Given the description of an element on the screen output the (x, y) to click on. 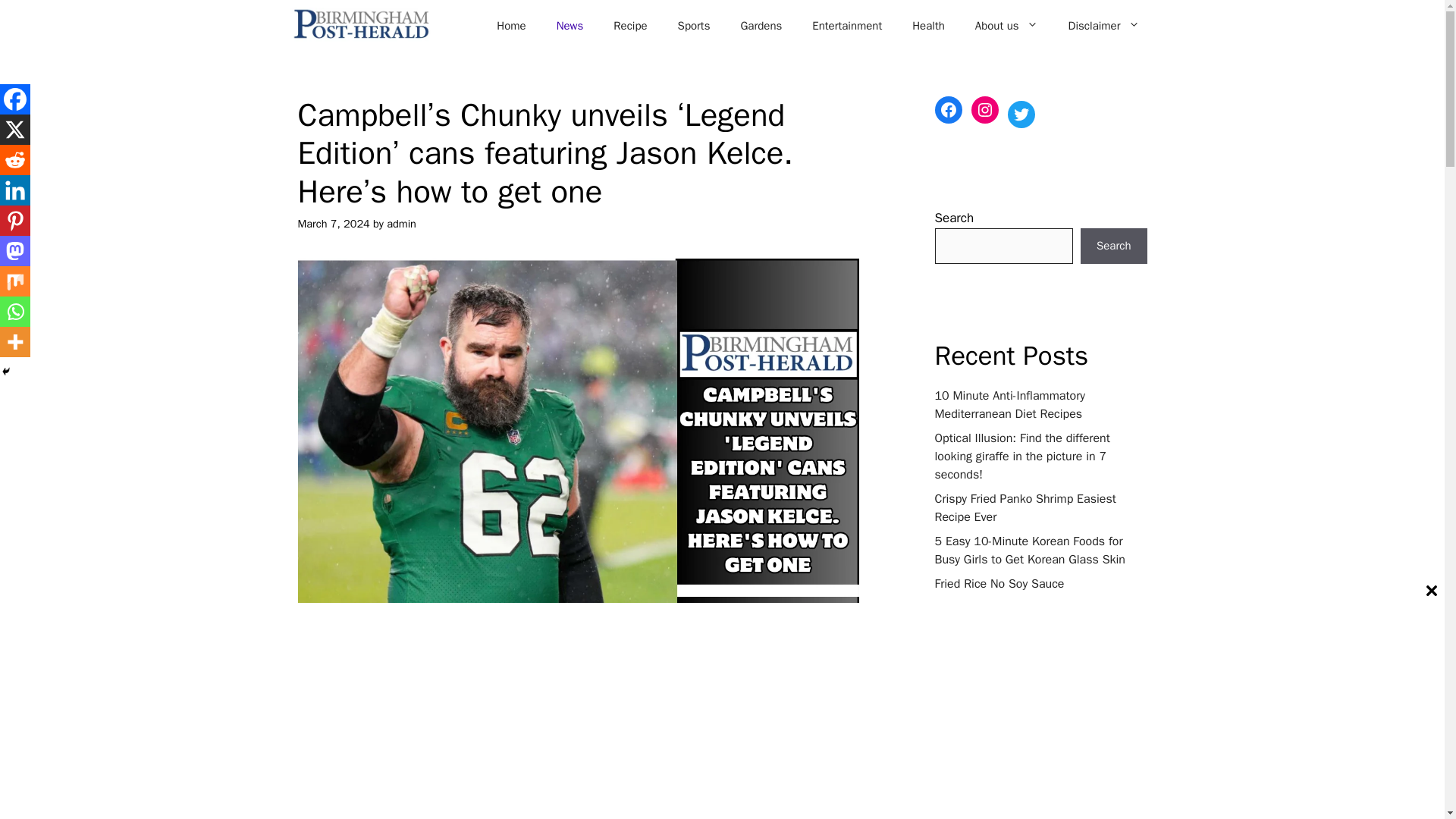
View all posts by admin (401, 223)
Whatsapp (401, 693)
Birmingham Post Herald (359, 25)
More (519, 693)
Print (460, 693)
admin (401, 223)
Sports (693, 25)
Entertainment (846, 25)
Copy Link (489, 693)
Disclaimer (1103, 25)
